Given the description of an element on the screen output the (x, y) to click on. 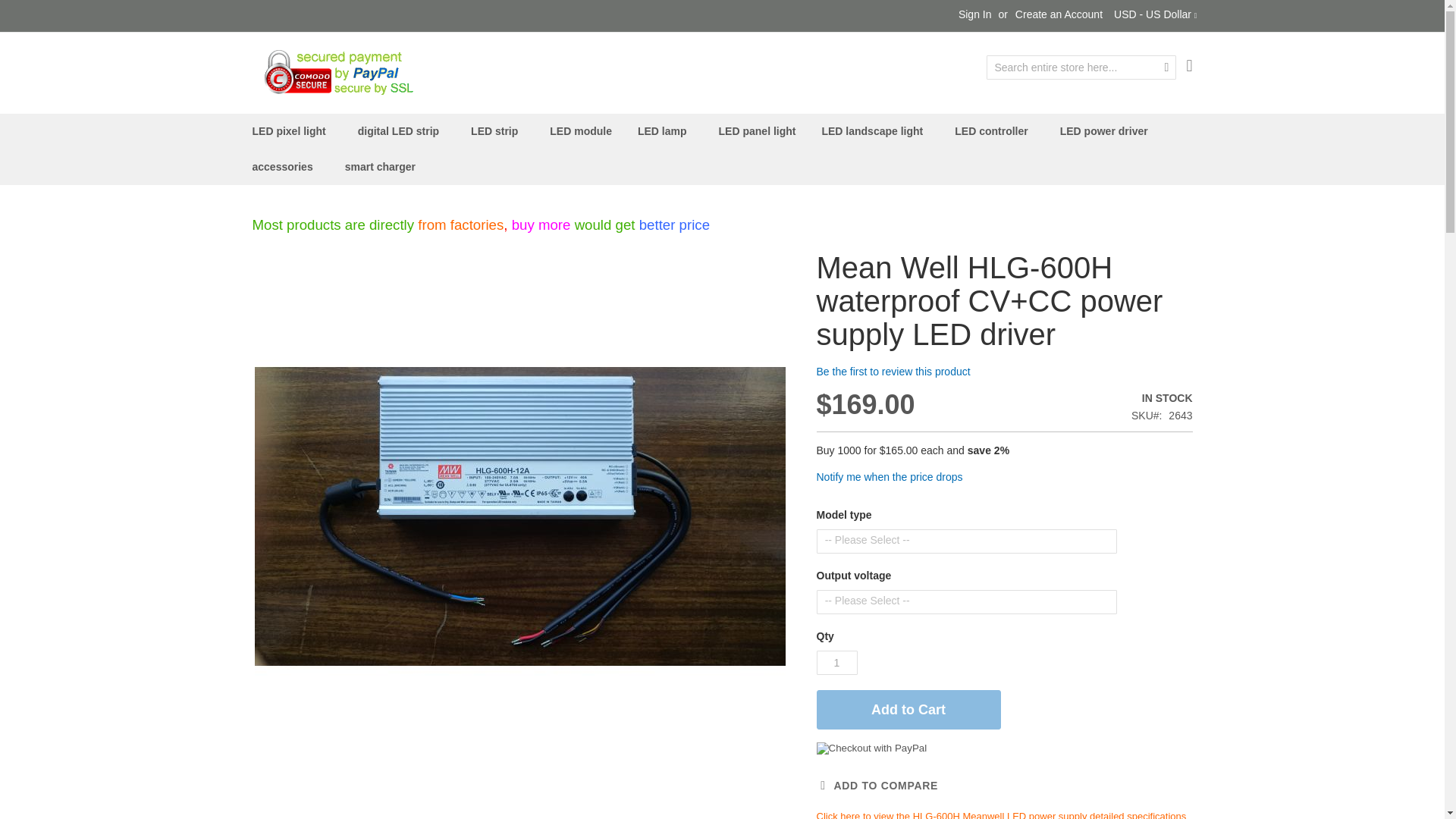
Sign In (974, 14)
Happyttt Store (333, 72)
Notify me when the price drops (888, 476)
LED pixel light (291, 131)
Checkout with PayPal (870, 748)
1 (836, 662)
Mean Well HLG-600H (1000, 814)
Add to Cart (907, 709)
Qty (836, 662)
Availability (1072, 398)
